Given the description of an element on the screen output the (x, y) to click on. 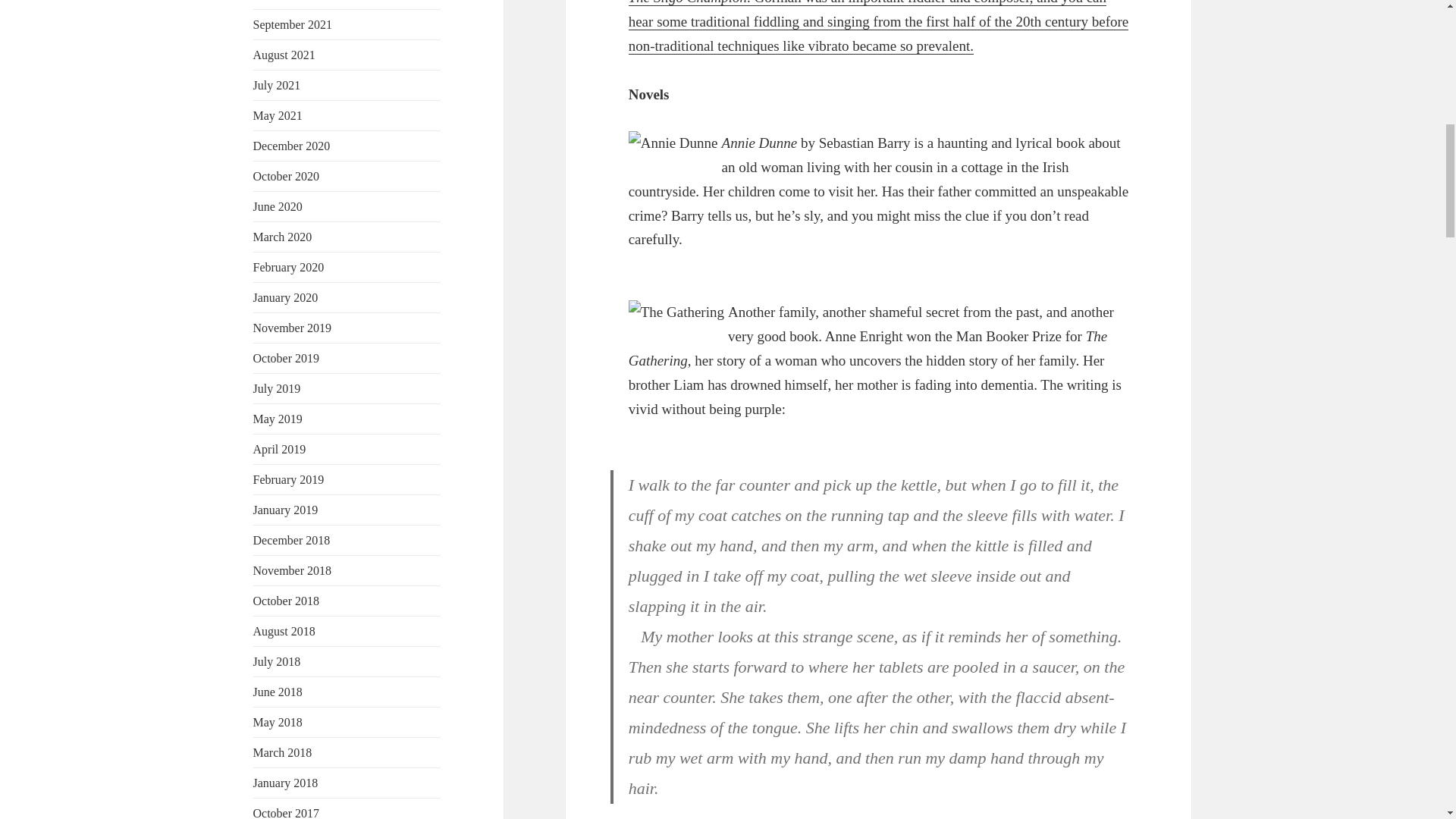
November 2018 (292, 570)
May 2019 (277, 418)
June 2018 (277, 691)
October 2019 (286, 358)
December 2020 (291, 145)
January 2020 (285, 297)
July 2021 (277, 84)
December 2018 (291, 540)
November 2019 (292, 327)
July 2019 (277, 388)
